Given the description of an element on the screen output the (x, y) to click on. 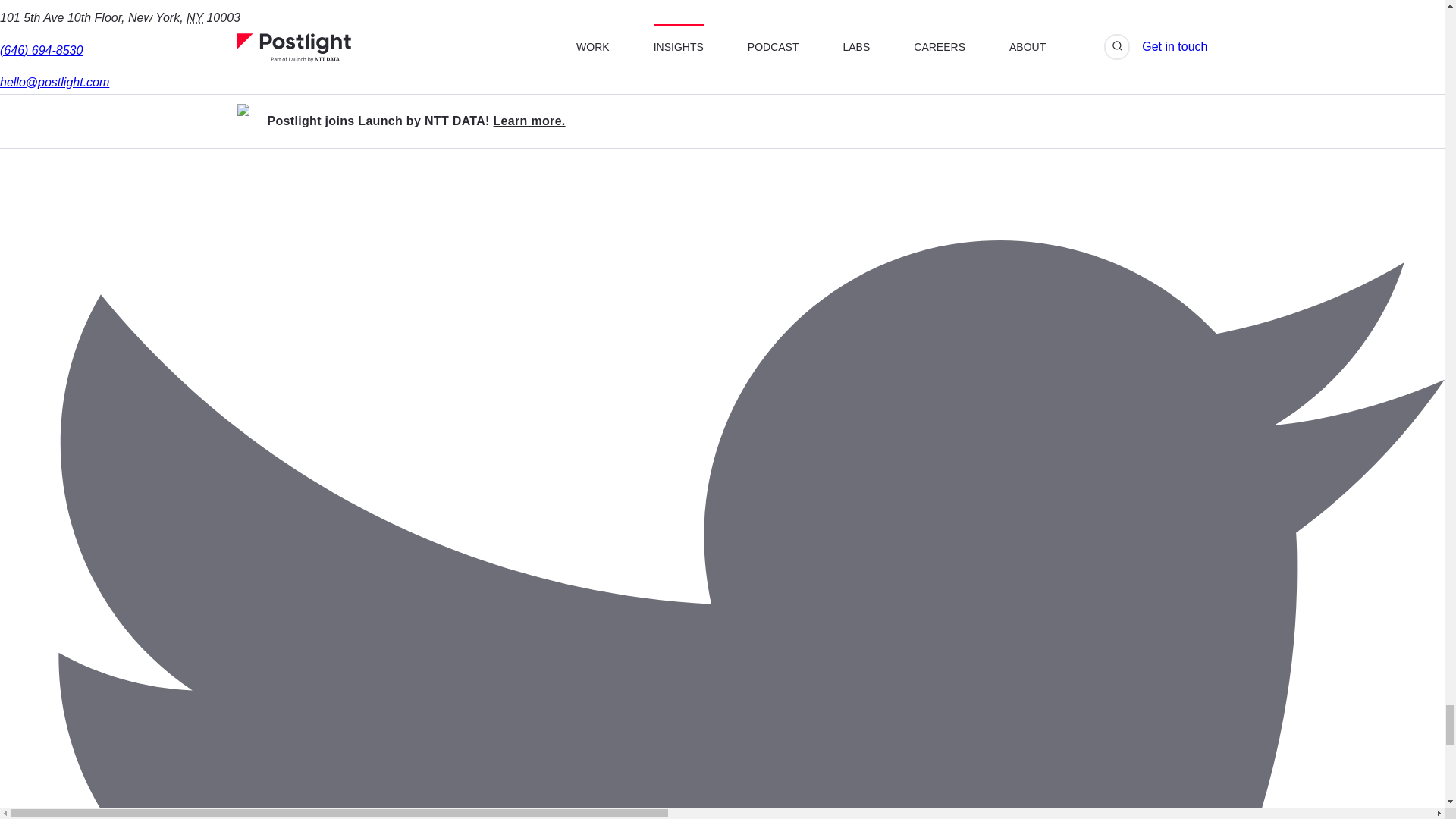
New York (194, 17)
